Given the description of an element on the screen output the (x, y) to click on. 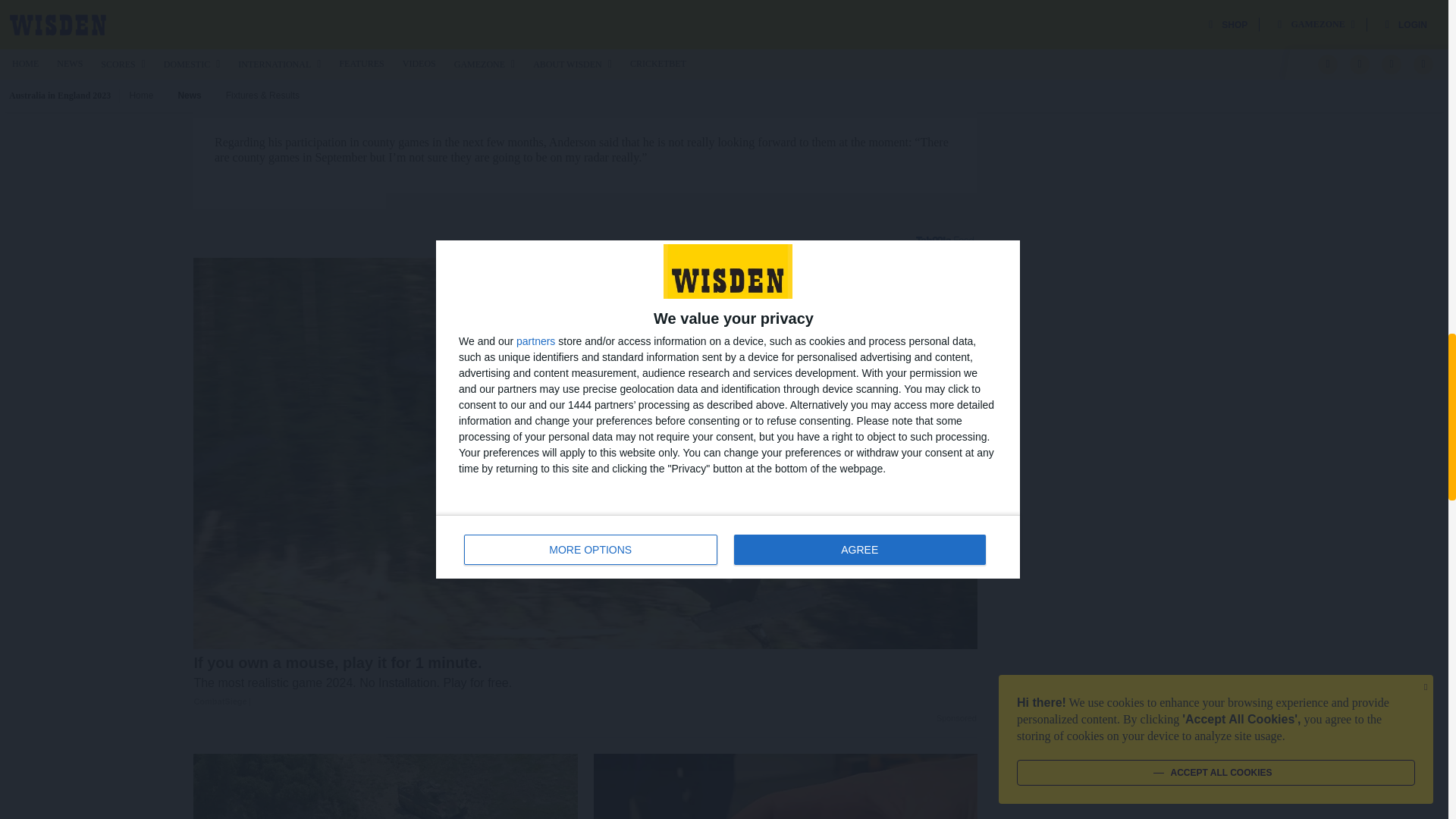
If you own a mouse, play it for 1 minute. (584, 681)
